Given the description of an element on the screen output the (x, y) to click on. 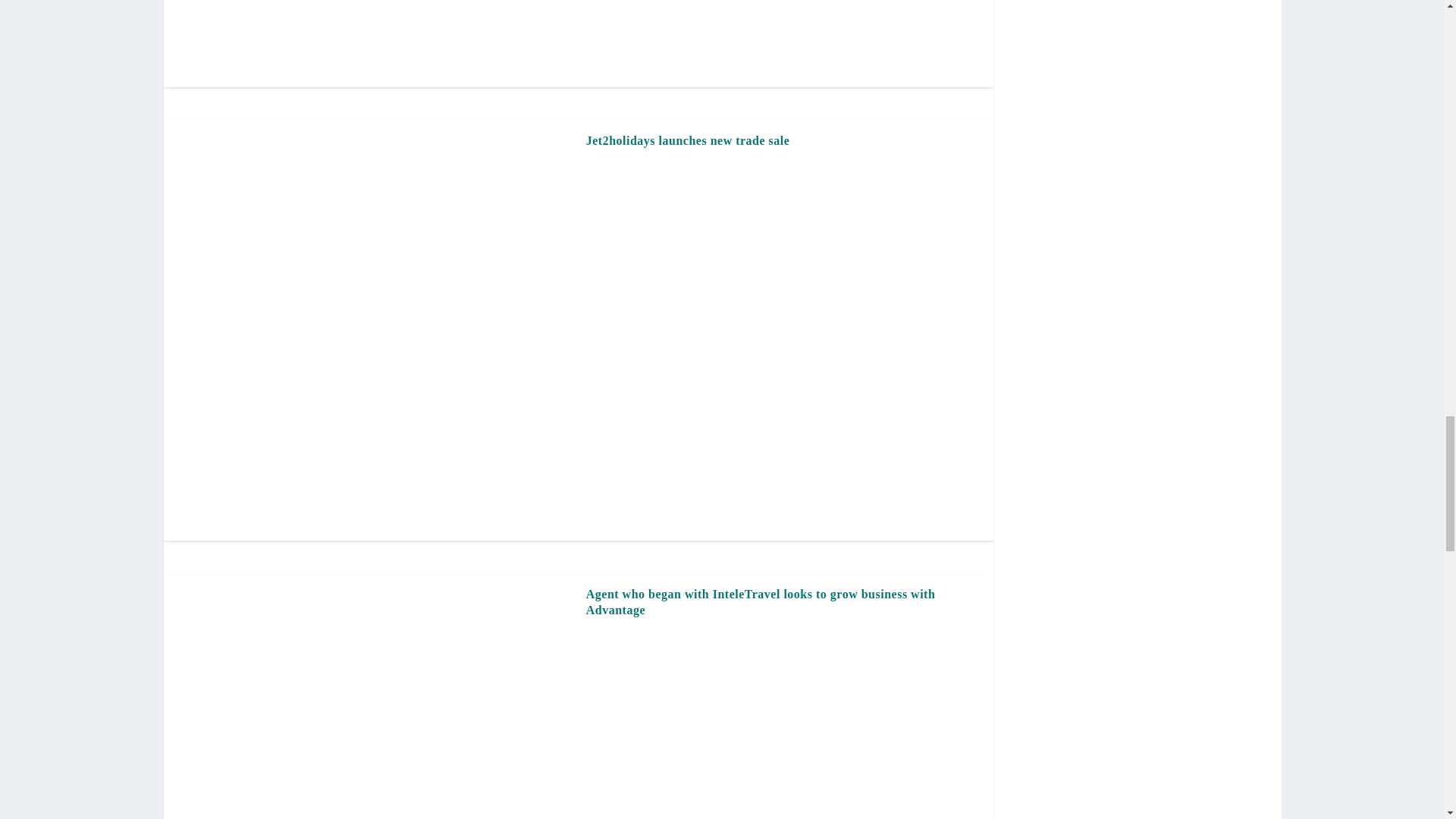
Zanzibar introduces compulsory insurance policy for visitors (374, 36)
